Given the description of an element on the screen output the (x, y) to click on. 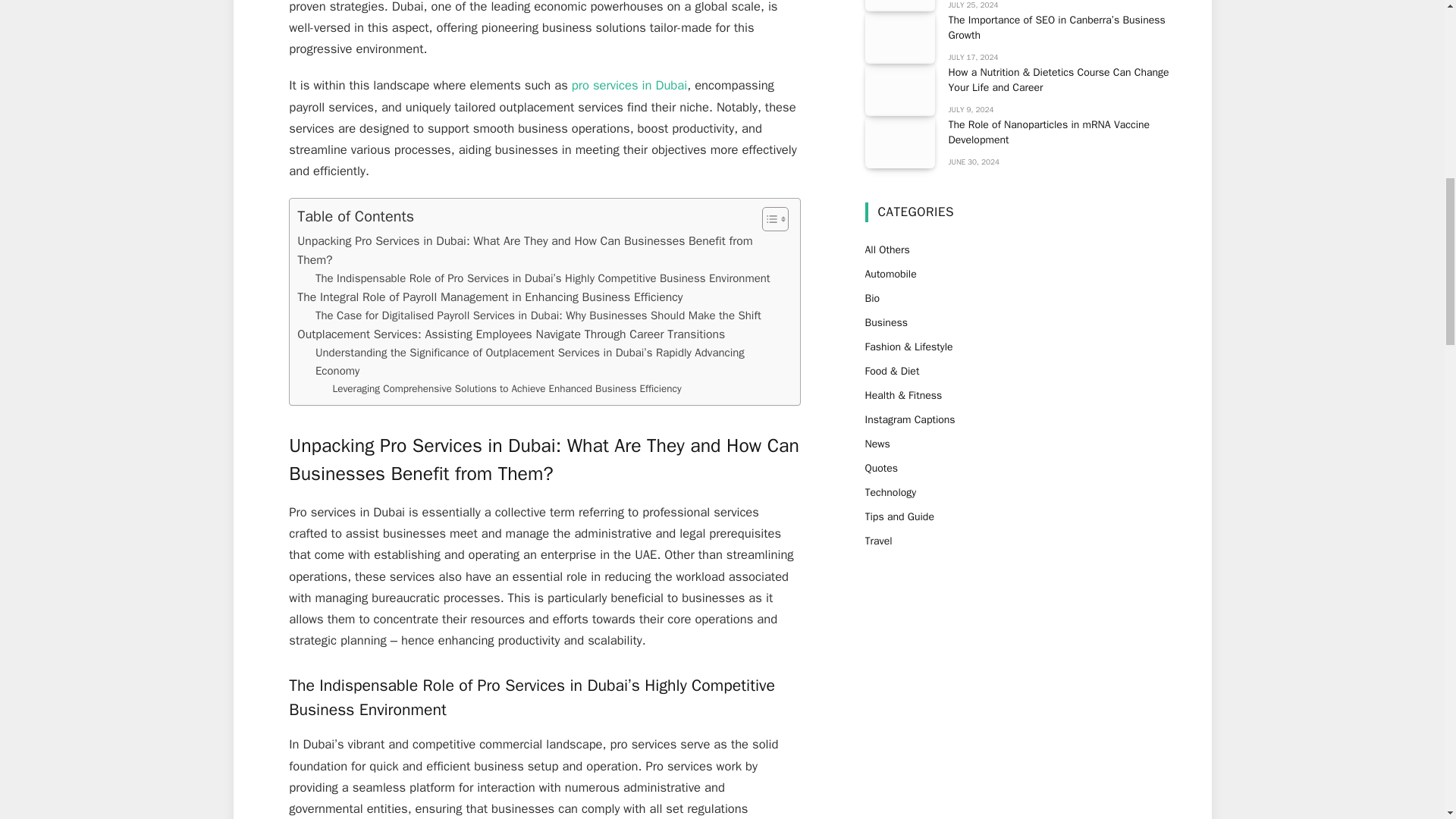
pro services in Dubai (627, 84)
